Given the description of an element on the screen output the (x, y) to click on. 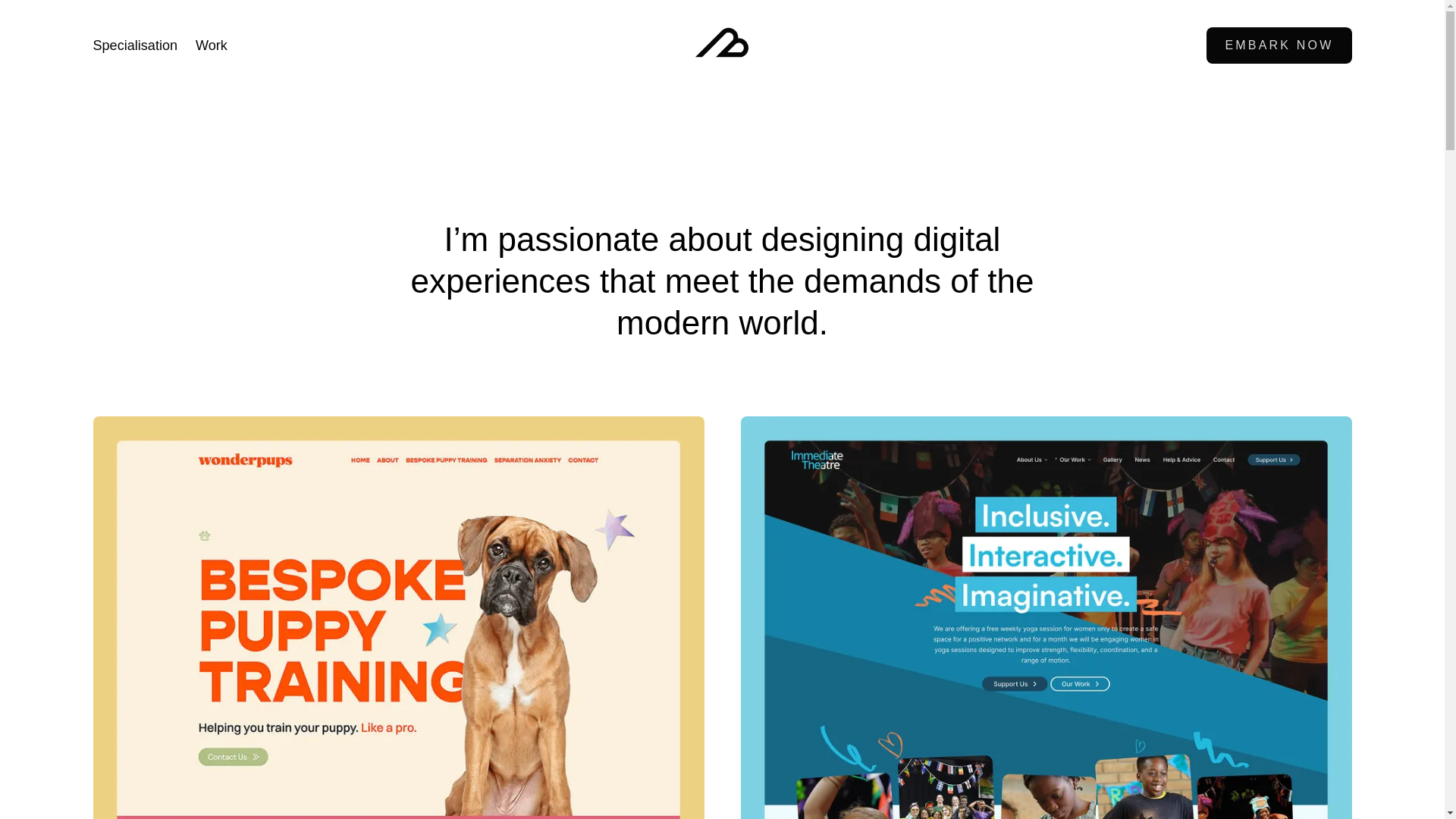
Specialisation (135, 45)
BEGIN YOUR JOURNEY (721, 512)
EMBARK NOW (1279, 45)
Work (211, 45)
